Given the description of an element on the screen output the (x, y) to click on. 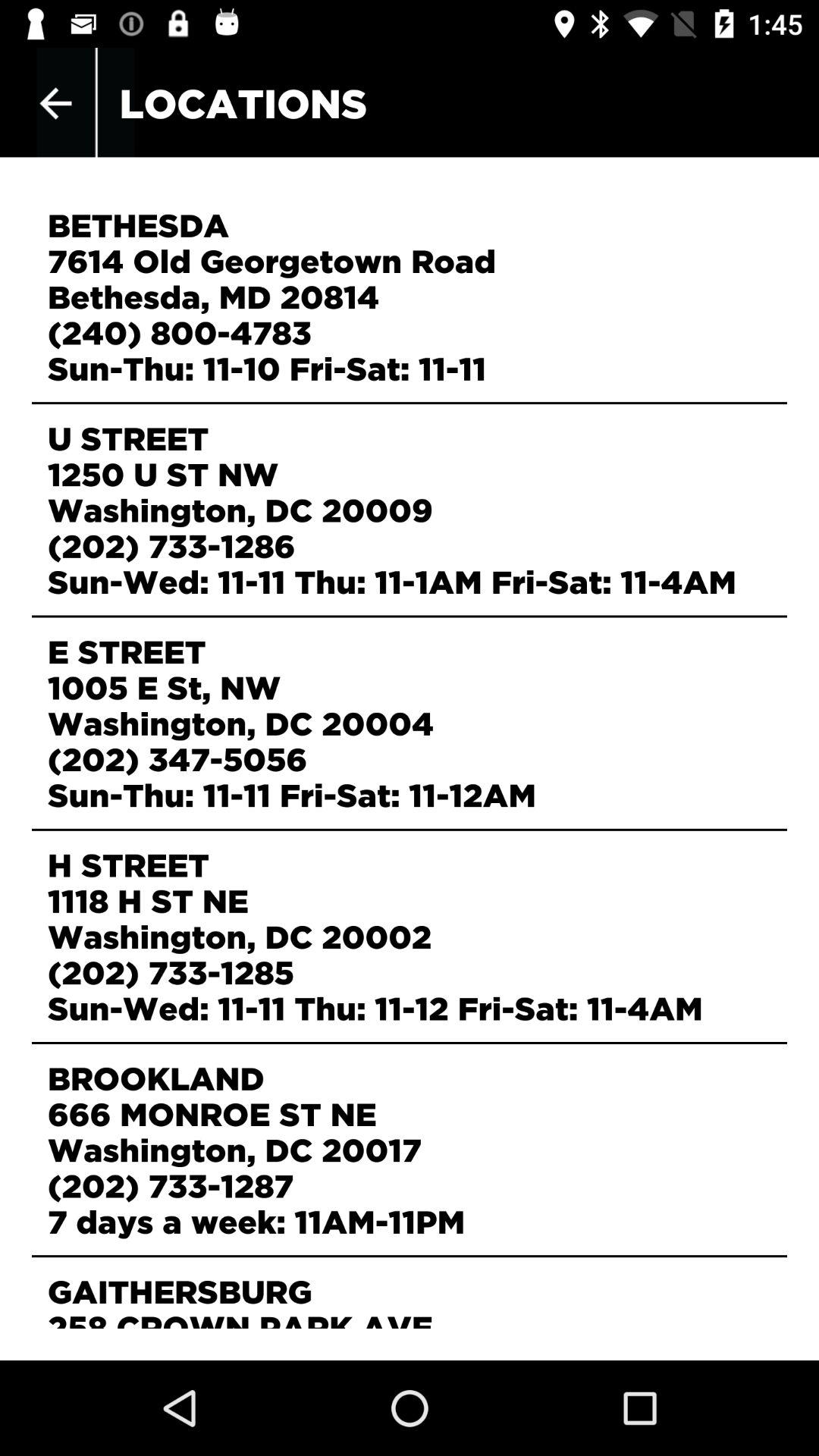
select app next to the locations app (55, 103)
